Given the description of an element on the screen output the (x, y) to click on. 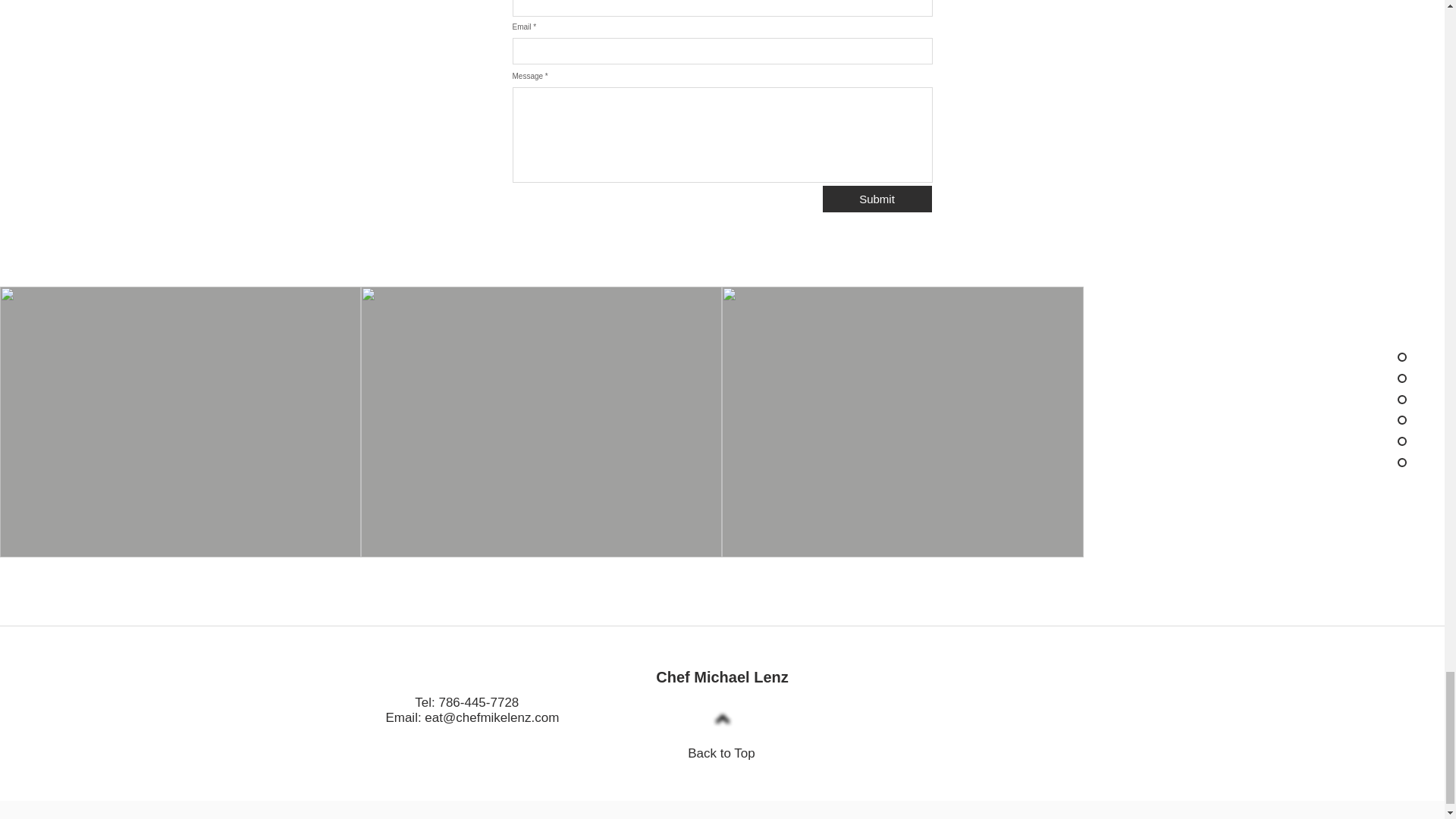
Submit (876, 198)
Back to Top (721, 753)
